Given the description of an element on the screen output the (x, y) to click on. 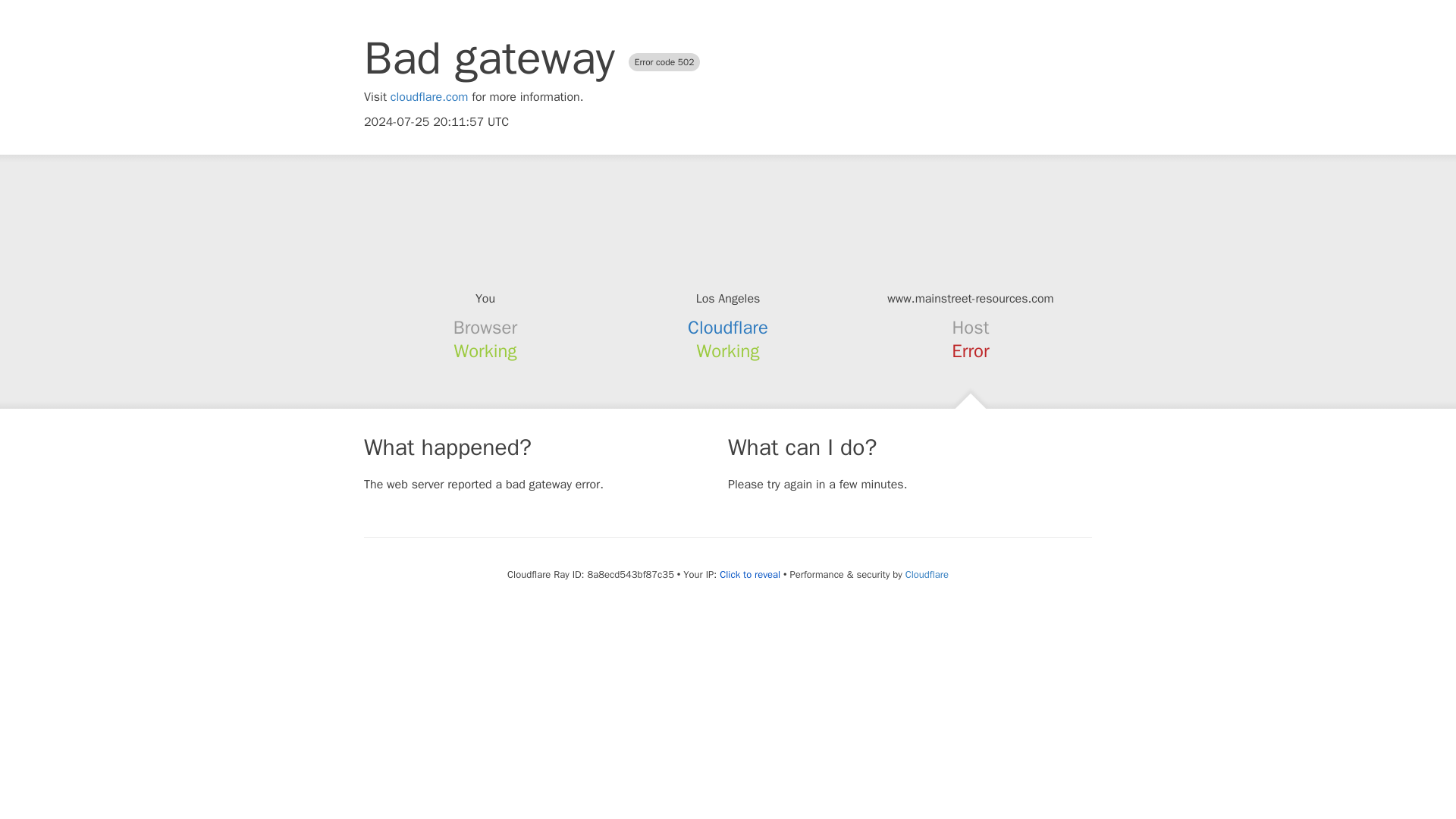
Cloudflare (927, 574)
Cloudflare (727, 327)
Click to reveal (749, 574)
cloudflare.com (429, 96)
